Given the description of an element on the screen output the (x, y) to click on. 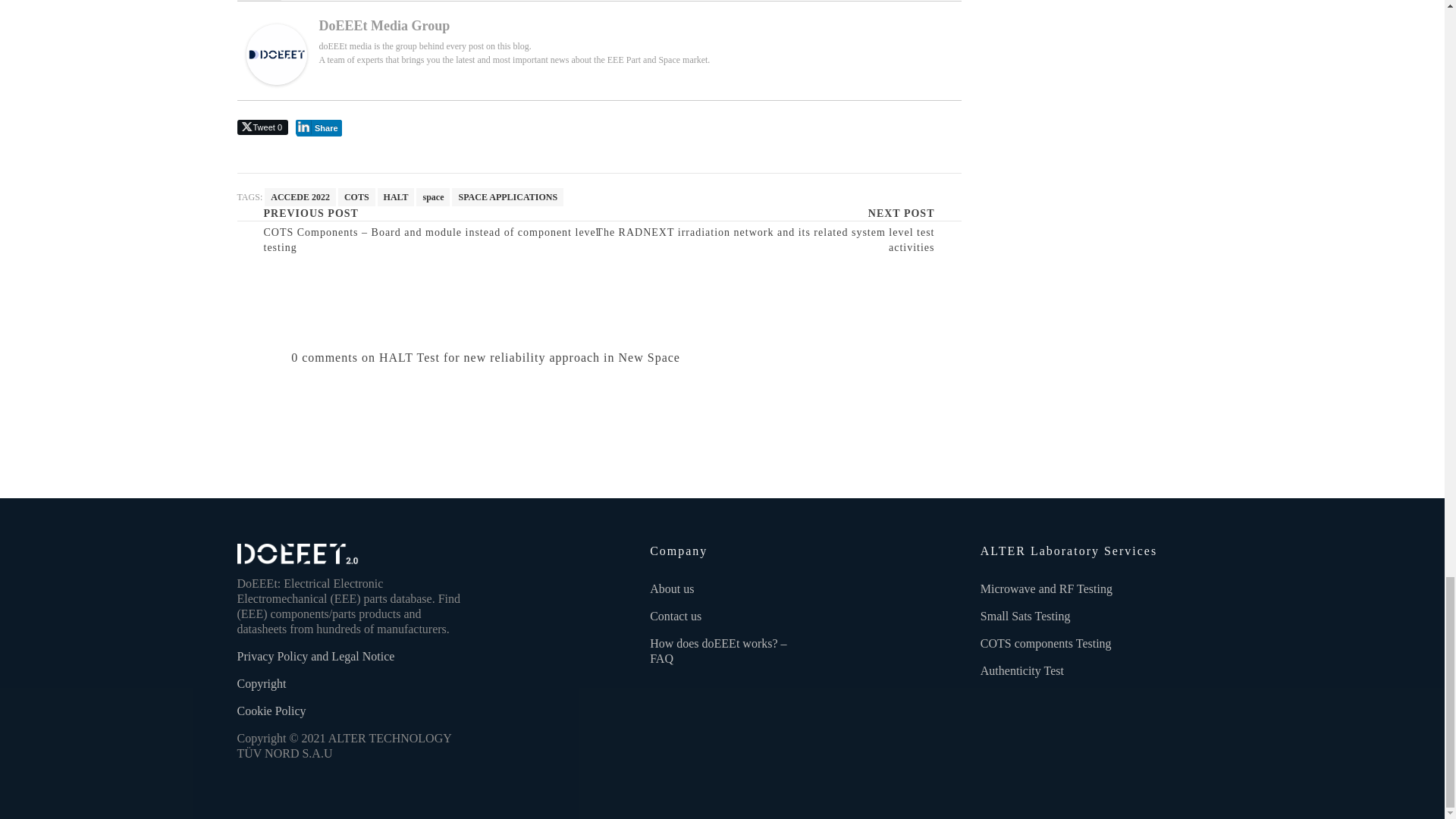
Cookie Policy (270, 710)
Copyright (260, 683)
doEEEt Media Group (275, 52)
Contact-us (675, 615)
How does doEEEt works? (717, 651)
